Given the description of an element on the screen output the (x, y) to click on. 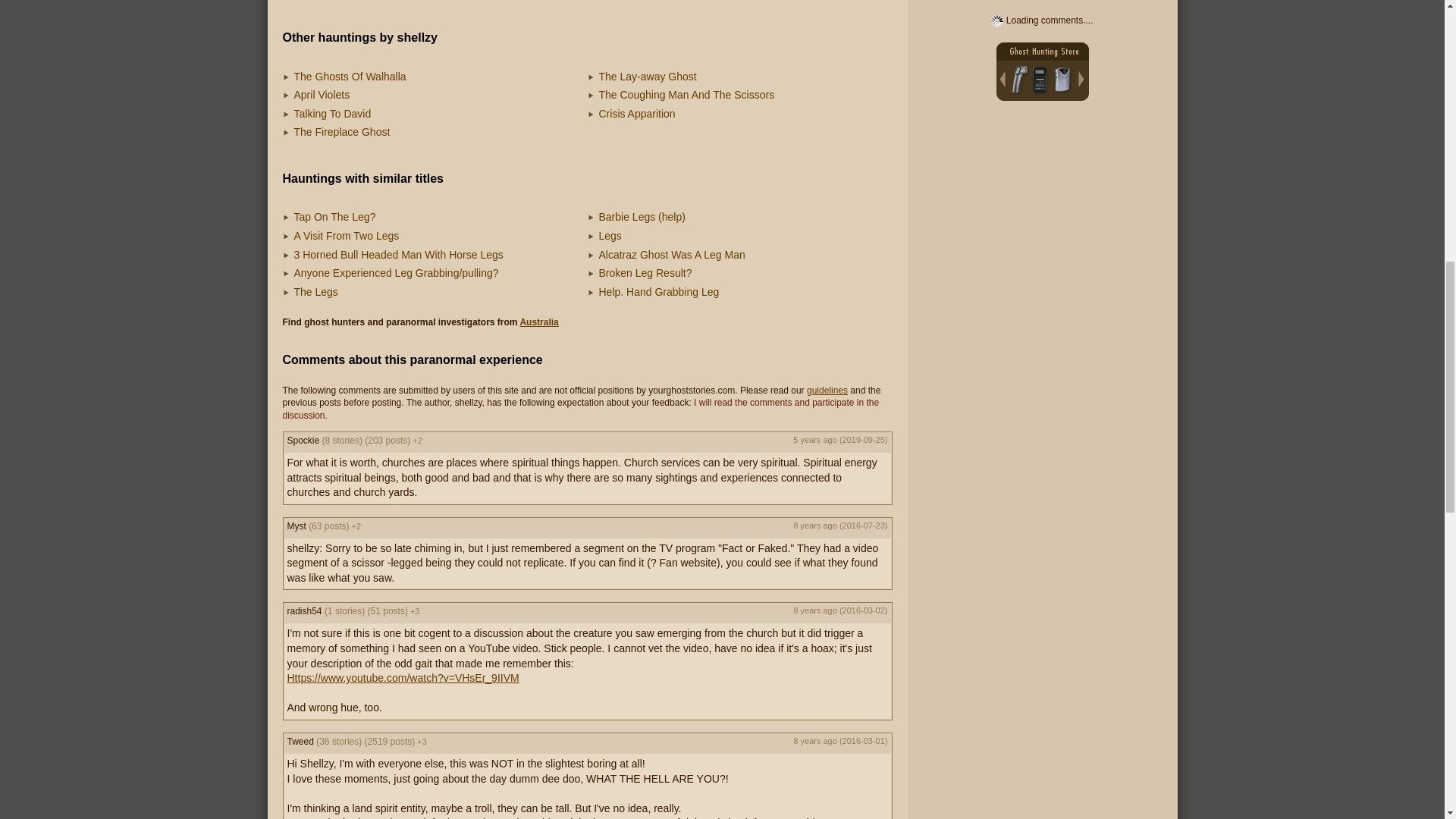
Talking To David (332, 113)
The Ghosts Of Walhalla (350, 76)
Crisis Apparition (636, 113)
The Lay-away Ghost (647, 76)
A Visit From Two Legs (346, 235)
The Fireplace Ghost (342, 132)
Tap On The Leg? (334, 216)
April Violets (322, 94)
The Coughing Man And The Scissors (686, 94)
